Given the description of an element on the screen output the (x, y) to click on. 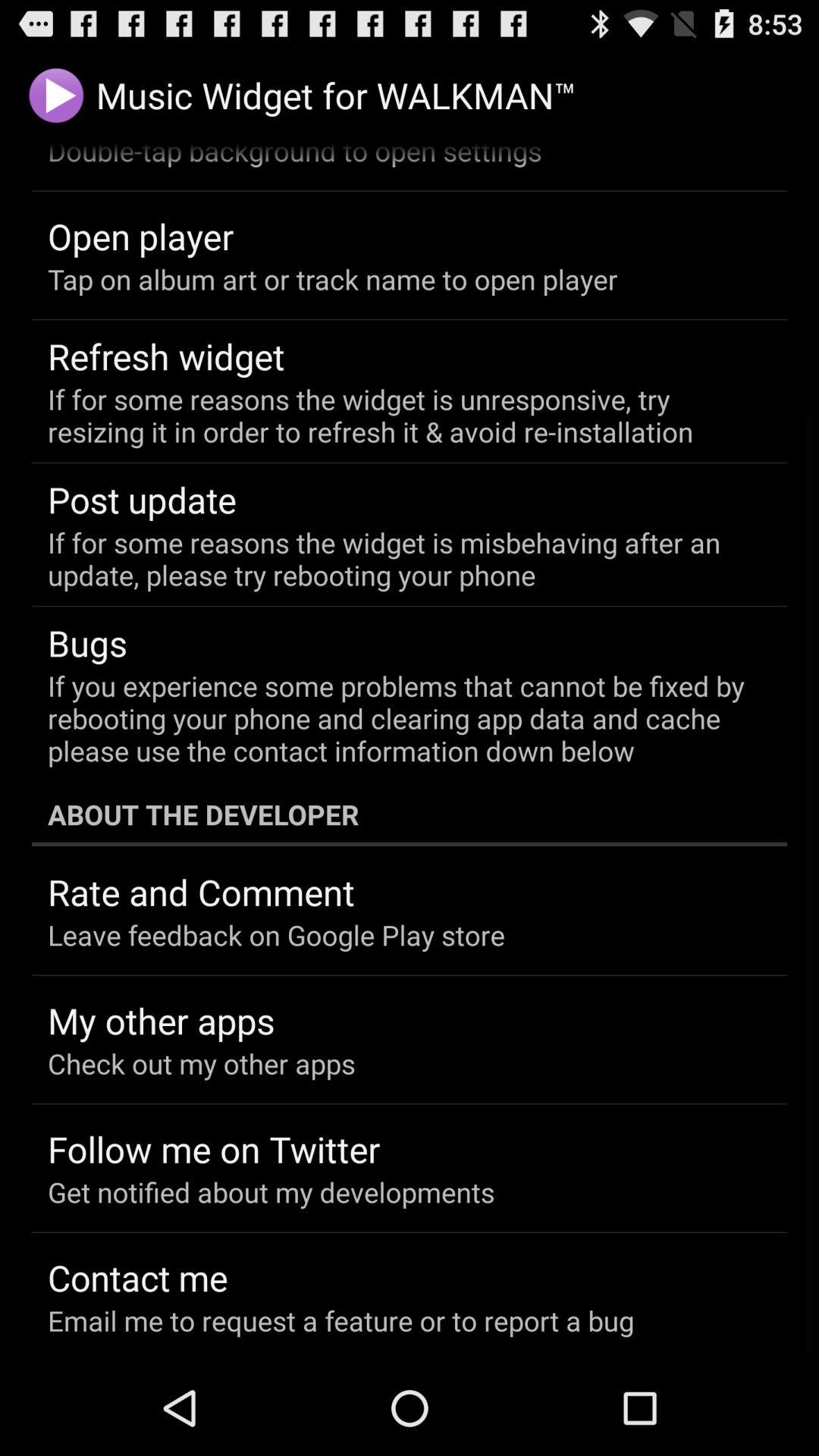
select the get notified about icon (270, 1191)
